Given the description of an element on the screen output the (x, y) to click on. 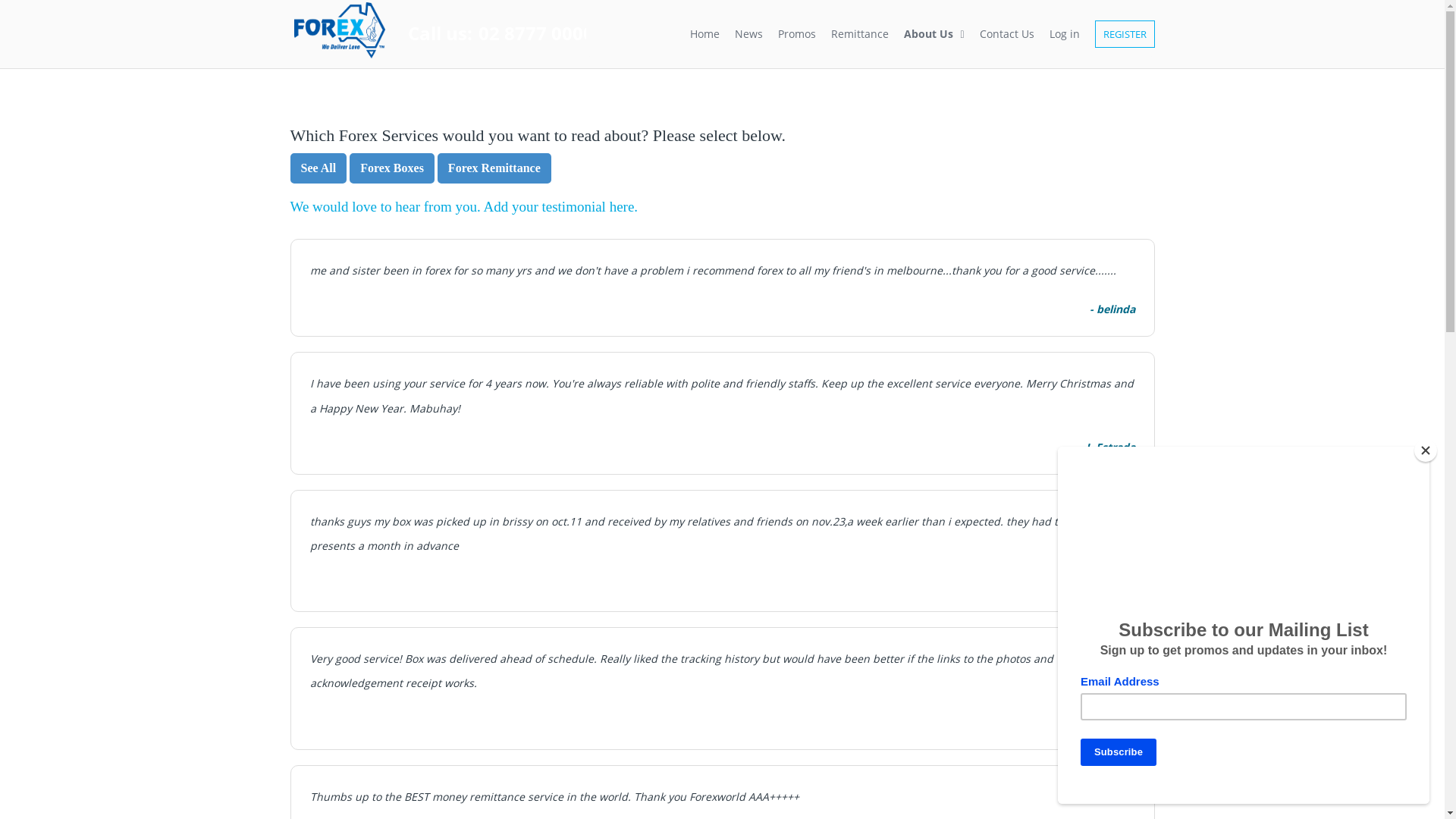
See All Element type: text (317, 168)
Promos Element type: text (796, 34)
Forex Remittance Element type: text (494, 167)
Log in Element type: text (1064, 34)
See All Element type: text (317, 167)
Forex Remittance Element type: text (494, 168)
Contact Us Element type: text (1006, 34)
Forex Boxes Element type: text (391, 167)
REGISTER Element type: text (1120, 34)
We would love to hear from you. Add your testimonial here. Element type: text (463, 206)
News Element type: text (748, 34)
Home Element type: text (704, 34)
Remittance Element type: text (859, 34)
Forex Boxes Element type: text (391, 168)
About Us Element type: text (933, 34)
